Given the description of an element on the screen output the (x, y) to click on. 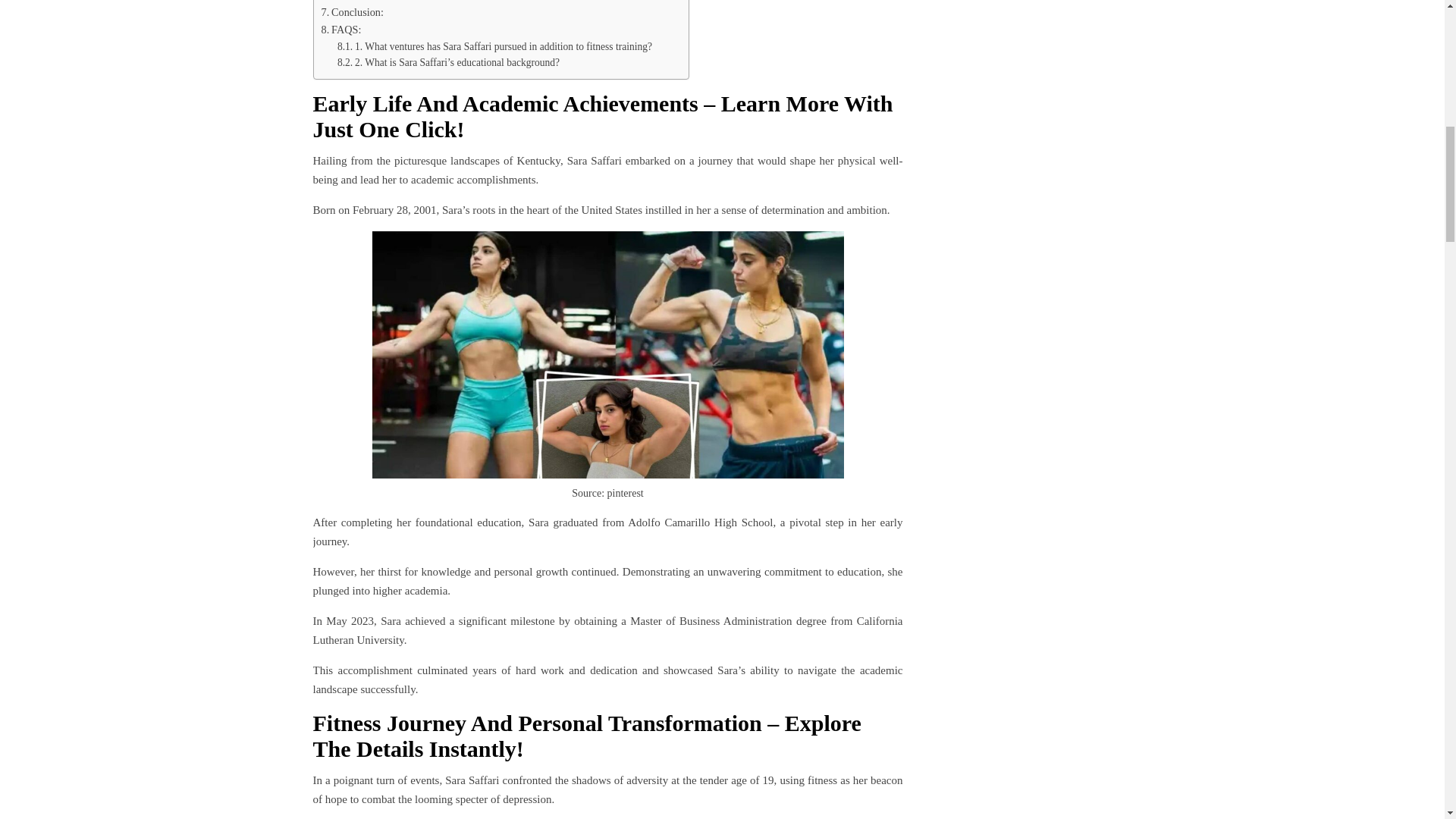
FAQS: (341, 29)
Conclusion: (352, 12)
FAQS: (341, 29)
Conclusion: (352, 12)
